Given the description of an element on the screen output the (x, y) to click on. 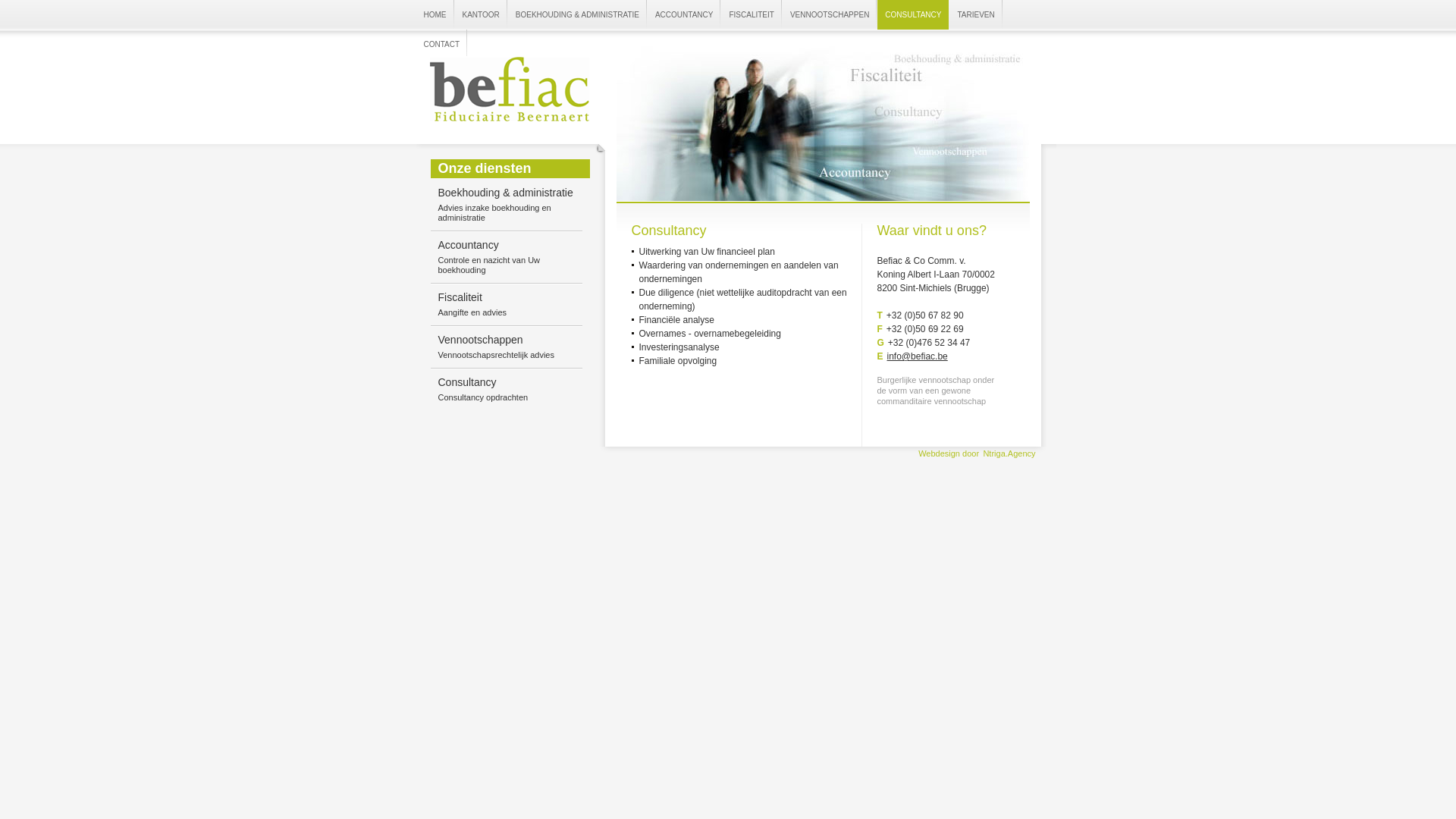
TARIEVEN Element type: text (975, 14)
CONTACT Element type: text (441, 44)
BOEKHOUDING & ADMINISTRATIE Element type: text (577, 14)
Vennootschappen Element type: text (480, 339)
info@befiac.be Element type: text (917, 356)
Fiscaliteit Element type: text (460, 297)
Ntriga.Agency Element type: text (1009, 453)
KANTOOR Element type: text (481, 14)
FISCALITEIT Element type: text (751, 14)
VENNOOTSCHAPPEN Element type: text (829, 14)
Webdesign door Element type: text (949, 453)
Consultancy Element type: text (467, 382)
ACCOUNTANCY Element type: text (683, 14)
CONSULTANCY Element type: text (912, 14)
Befiac | Uw onderneming in deskundige handen Element type: text (509, 88)
Boekhouding & administratie Element type: text (505, 192)
HOME Element type: text (434, 14)
Accountancy Element type: text (468, 244)
